Given the description of an element on the screen output the (x, y) to click on. 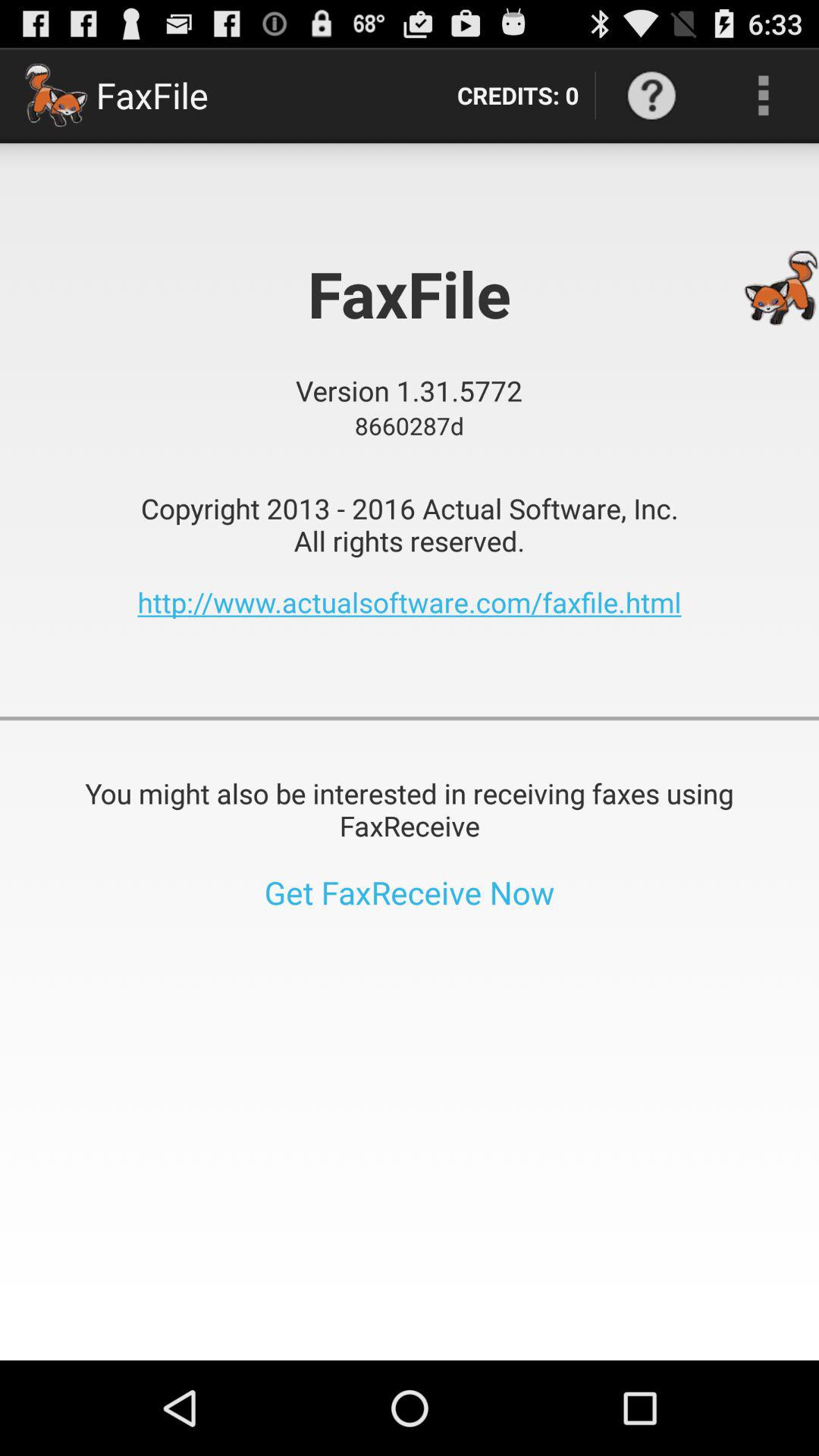
tap the item above copyright 2013 2016 (651, 95)
